Given the description of an element on the screen output the (x, y) to click on. 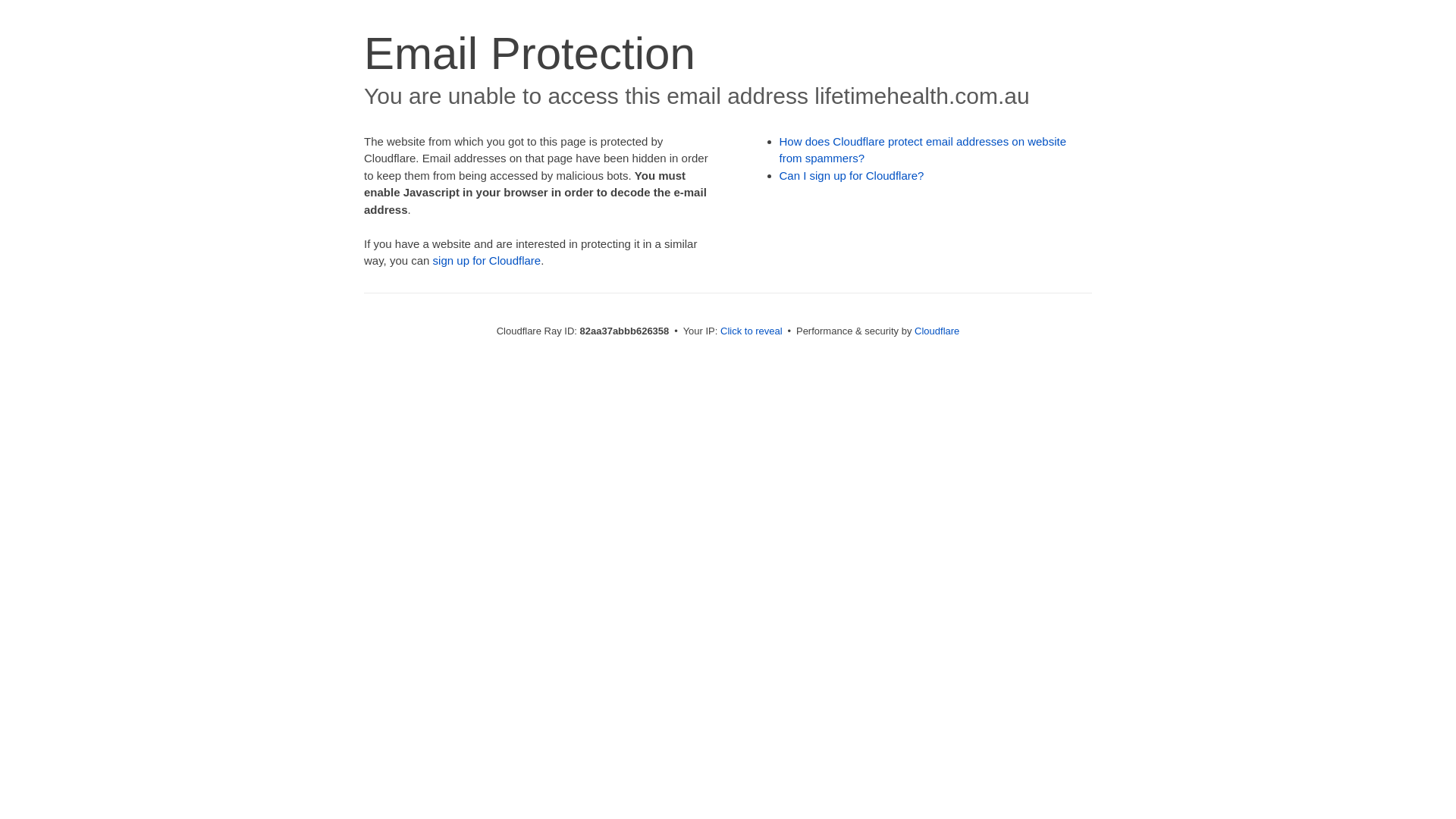
Can I sign up for Cloudflare? Element type: text (851, 175)
sign up for Cloudflare Element type: text (487, 260)
Cloudflare Element type: text (936, 330)
Click to reveal Element type: text (751, 330)
